Given the description of an element on the screen output the (x, y) to click on. 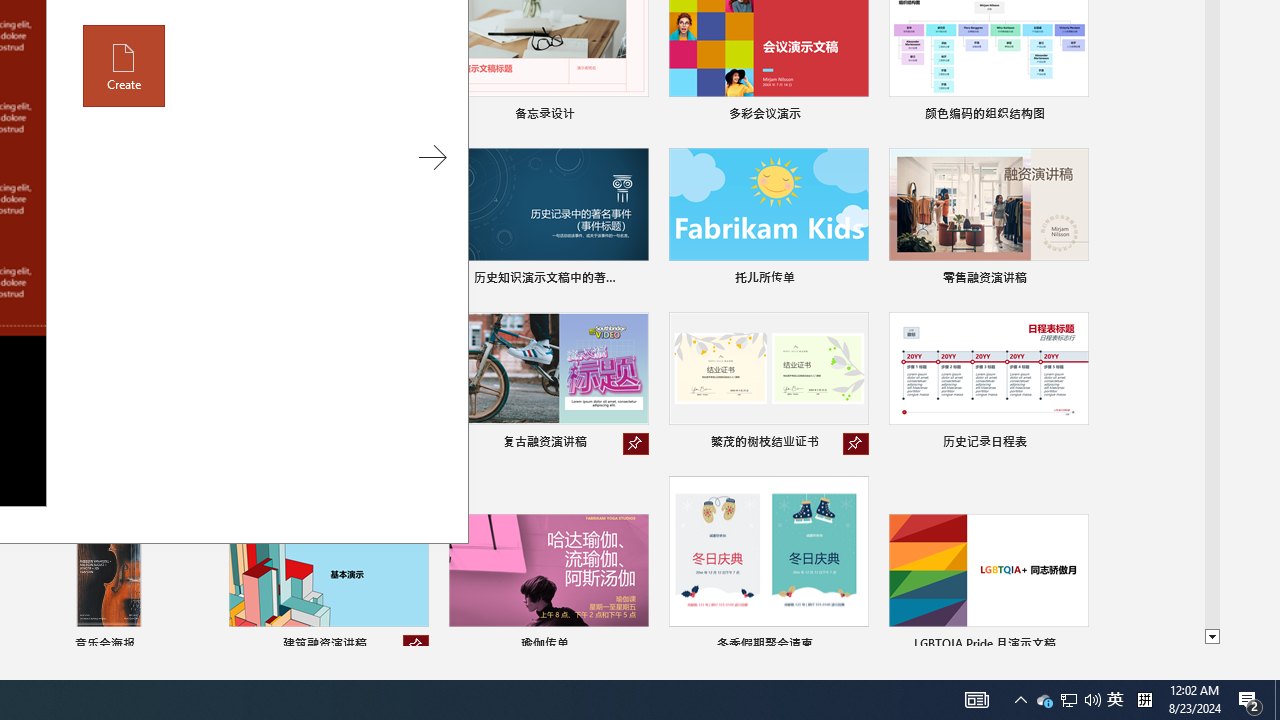
Unpin from list (415, 645)
